Given the description of an element on the screen output the (x, y) to click on. 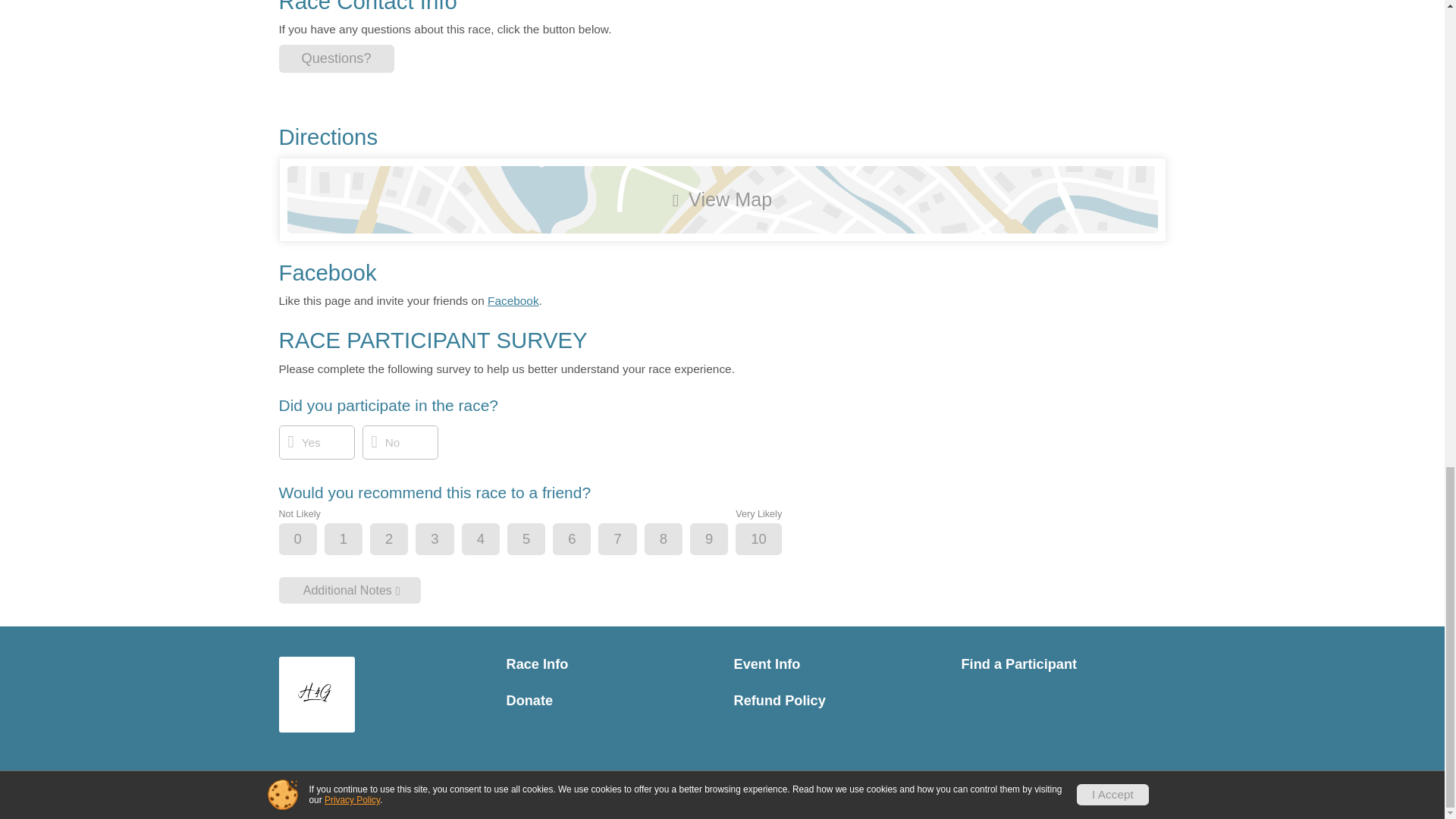
3 (447, 540)
Questions? (336, 58)
6 (584, 540)
Donate (608, 700)
4 (493, 540)
Event Info (836, 664)
10 (770, 540)
8 (675, 540)
View Map (721, 199)
Refund Policy (836, 700)
